Given the description of an element on the screen output the (x, y) to click on. 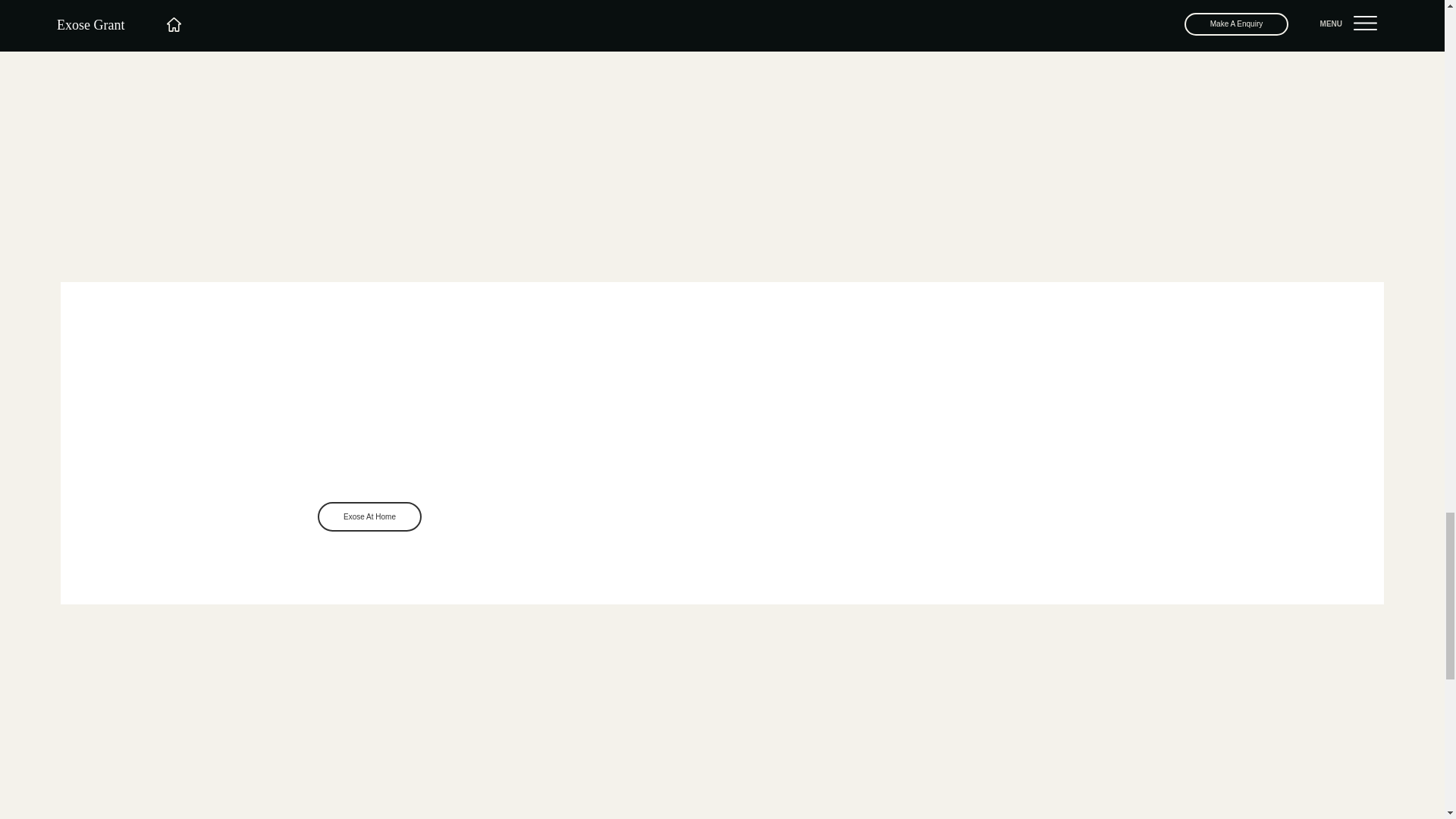
Exose At Home (369, 516)
